Given the description of an element on the screen output the (x, y) to click on. 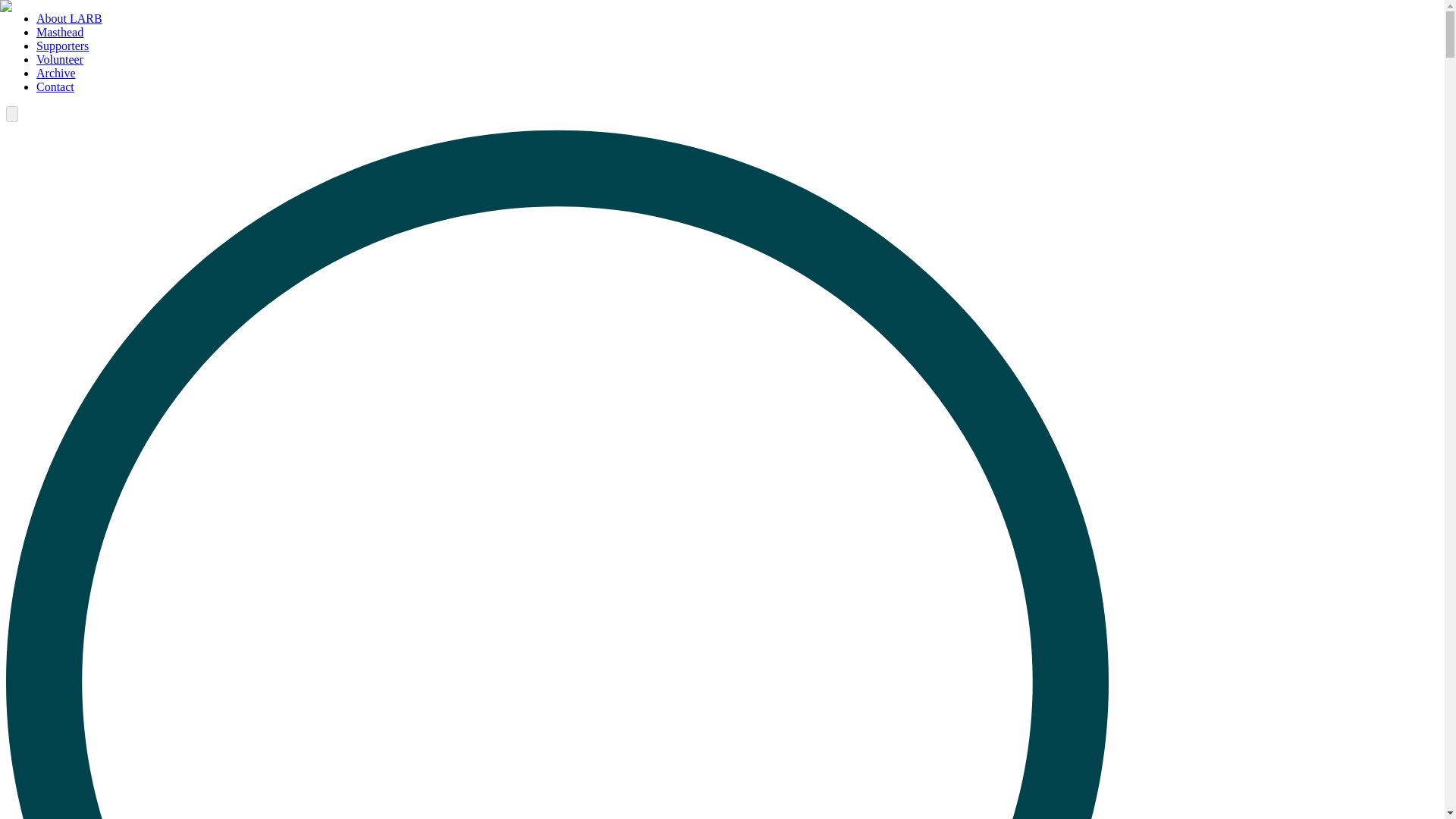
Supporters (62, 45)
Archive (55, 72)
About LARB (68, 18)
Contact (55, 86)
Volunteer (59, 59)
Masthead (59, 31)
